Given the description of an element on the screen output the (x, y) to click on. 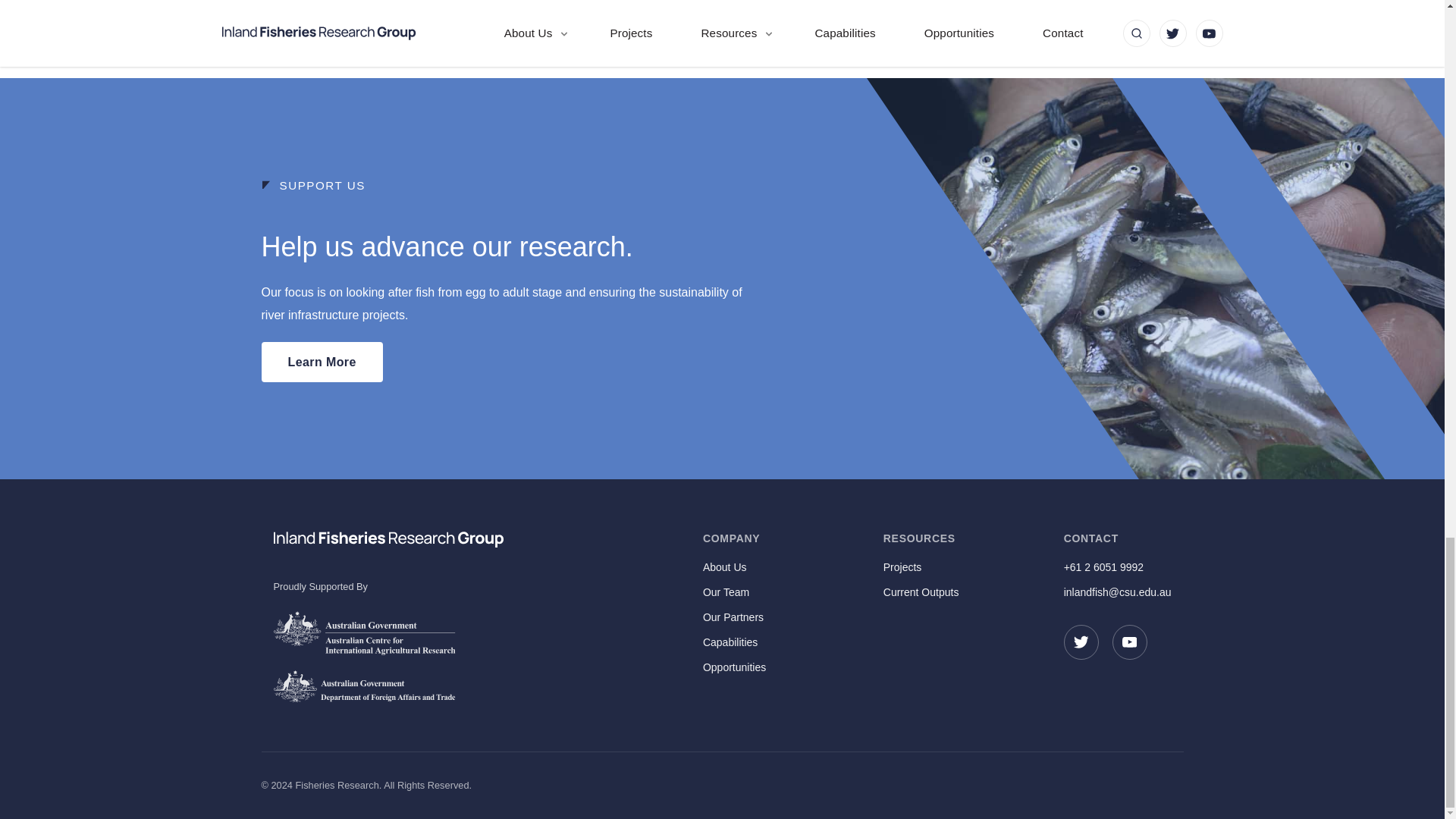
Learn More (320, 362)
Our Team (756, 591)
About Us (756, 566)
